Given the description of an element on the screen output the (x, y) to click on. 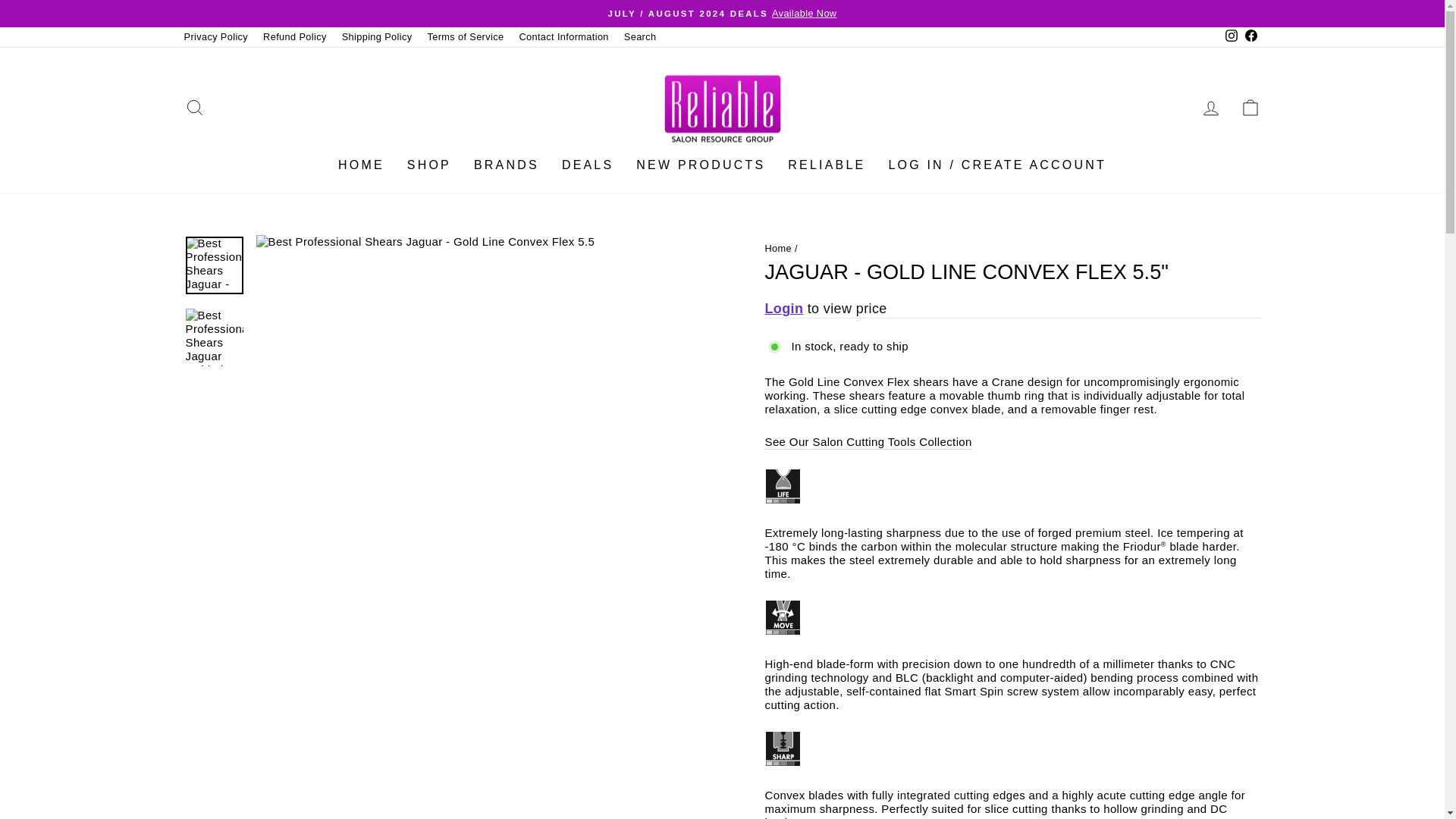
Back to the frontpage (778, 247)
Reliable Beauty Supply on Facebook (1250, 37)
Reliable Beauty Supply on Instagram (1230, 37)
